Given the description of an element on the screen output the (x, y) to click on. 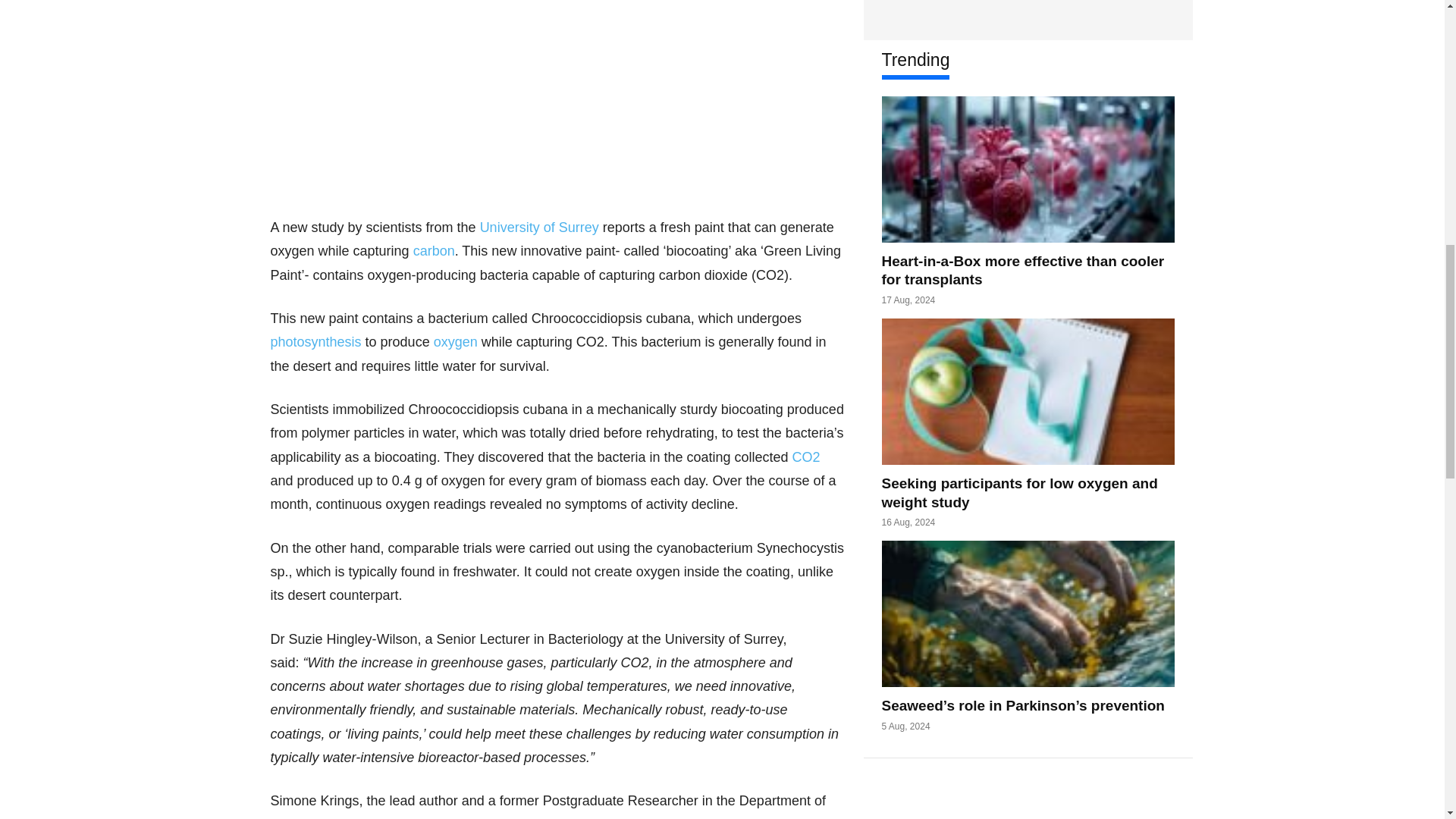
photosynthesis (315, 341)
Heart-in-a-Box more effective than cooler for transplants (1026, 169)
carbon (433, 250)
University of Surrey (539, 227)
